Given the description of an element on the screen output the (x, y) to click on. 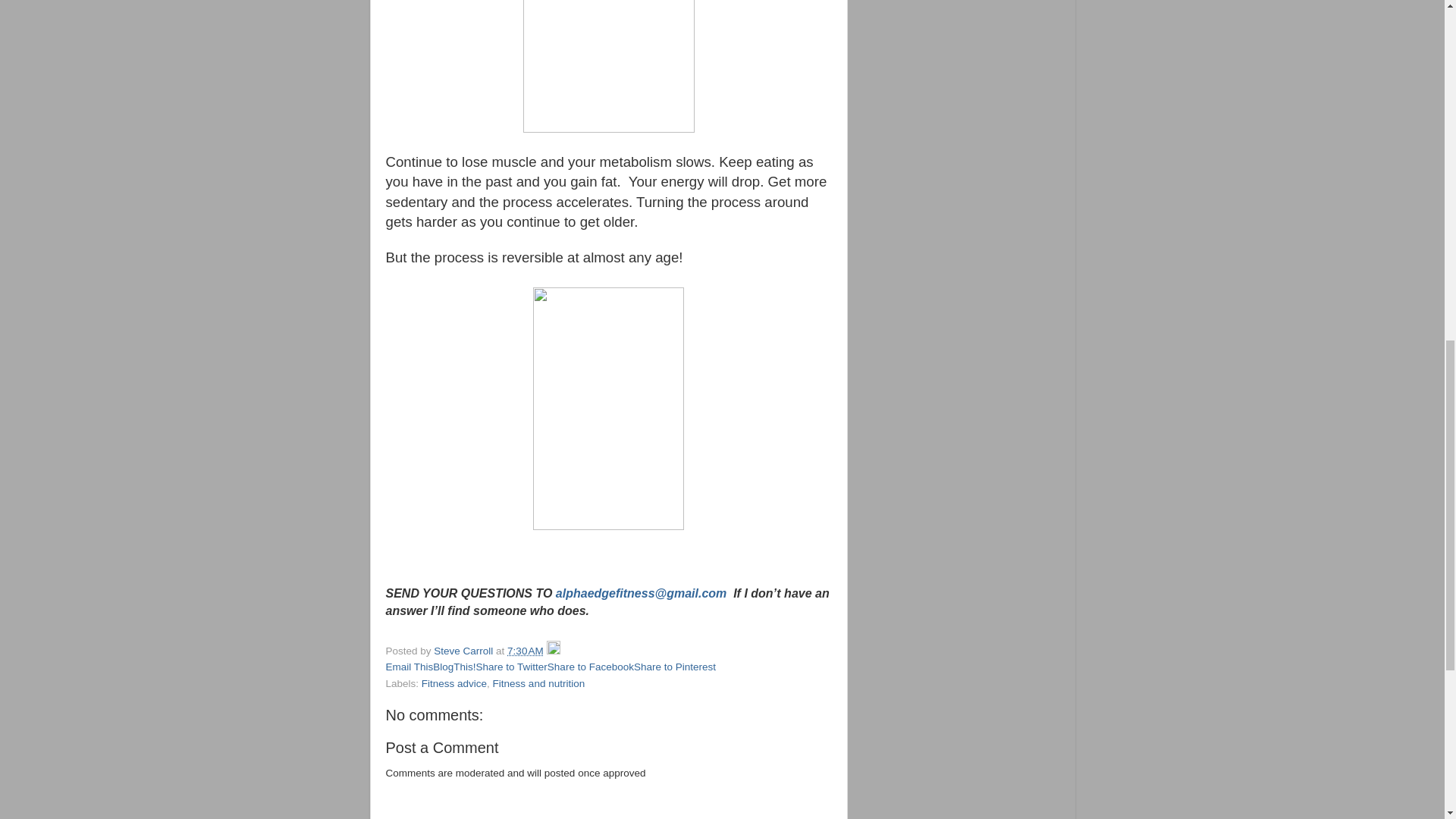
BlogThis! (454, 666)
BlogThis! (454, 666)
Share to Facebook (590, 666)
Share to Facebook (590, 666)
Share to Pinterest (674, 666)
author profile (464, 650)
permanent link (524, 650)
Email This (408, 666)
Share to Twitter (511, 666)
